Given the description of an element on the screen output the (x, y) to click on. 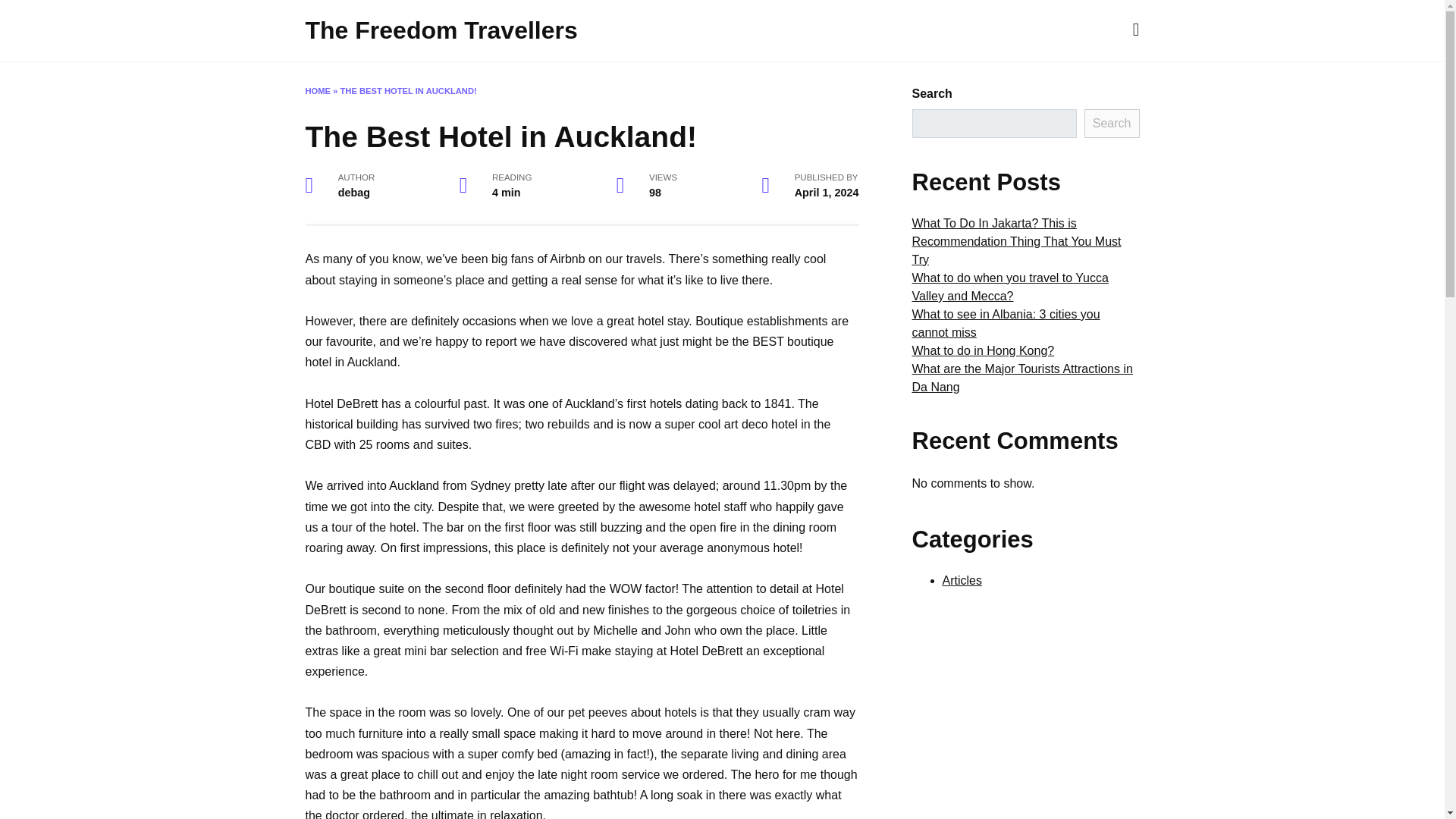
The Freedom Travellers (440, 30)
What to see in Albania: 3 cities you cannot miss (1005, 323)
What to do when you travel to Yucca Valley and Mecca? (1009, 286)
Search (1112, 123)
Articles (961, 580)
HOME (317, 90)
What to do in Hong Kong? (982, 350)
What are the Major Tourists Attractions in Da Nang (1021, 377)
